Given the description of an element on the screen output the (x, y) to click on. 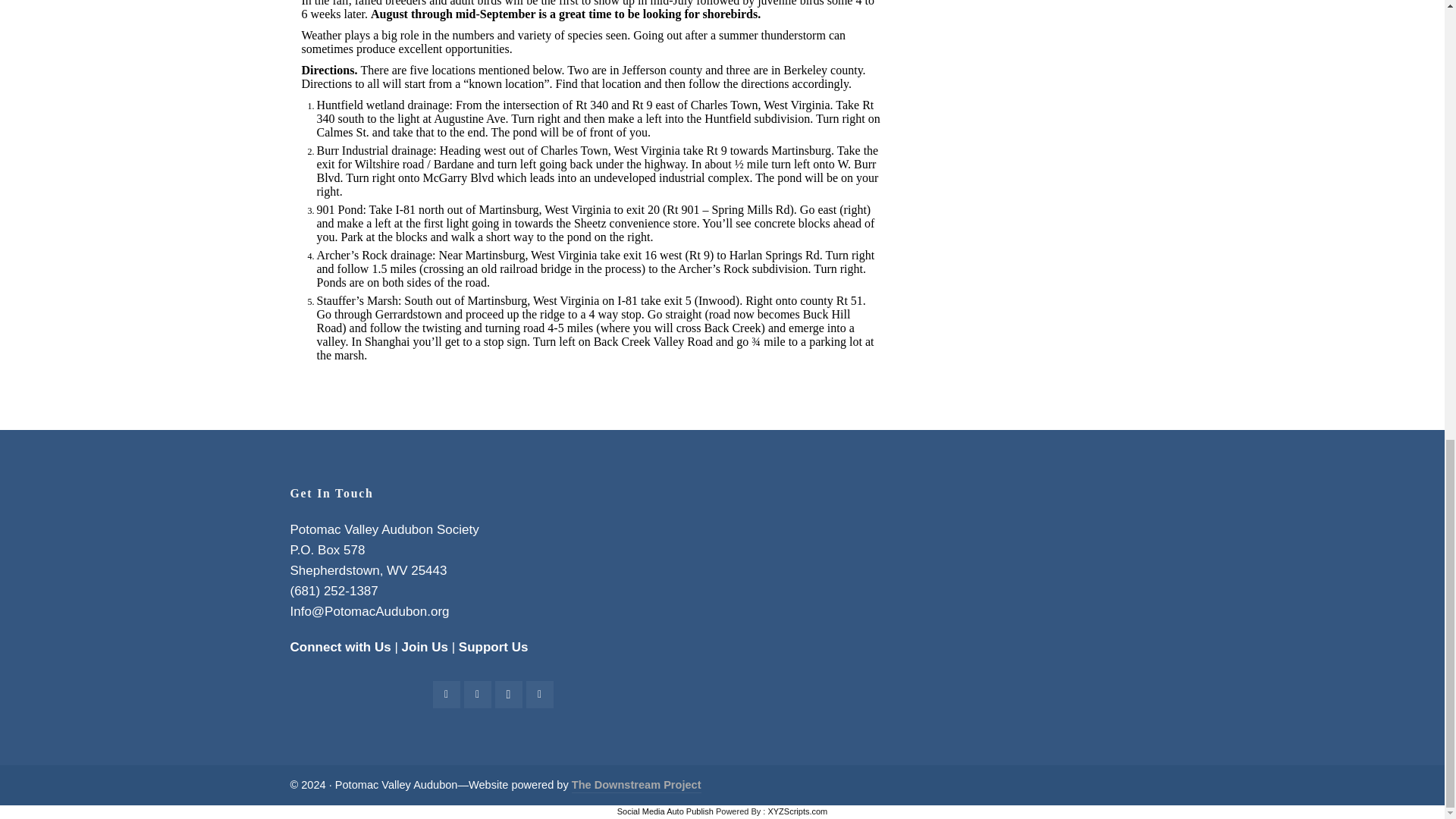
Social Media Auto Publish (665, 810)
